Given the description of an element on the screen output the (x, y) to click on. 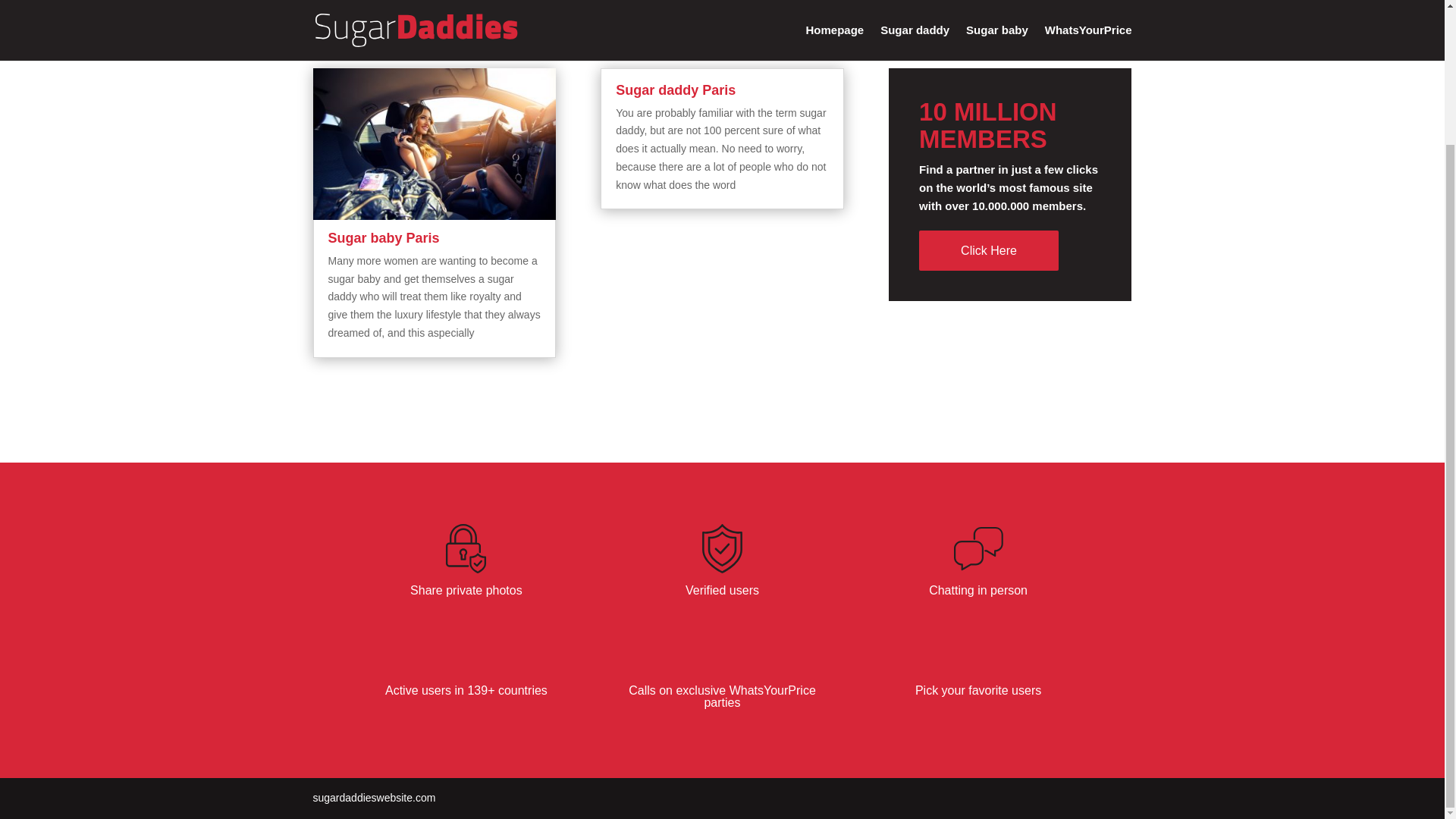
Sugar daddy Paris (675, 89)
Click Here (988, 250)
Sugar baby Paris (383, 237)
